Given the description of an element on the screen output the (x, y) to click on. 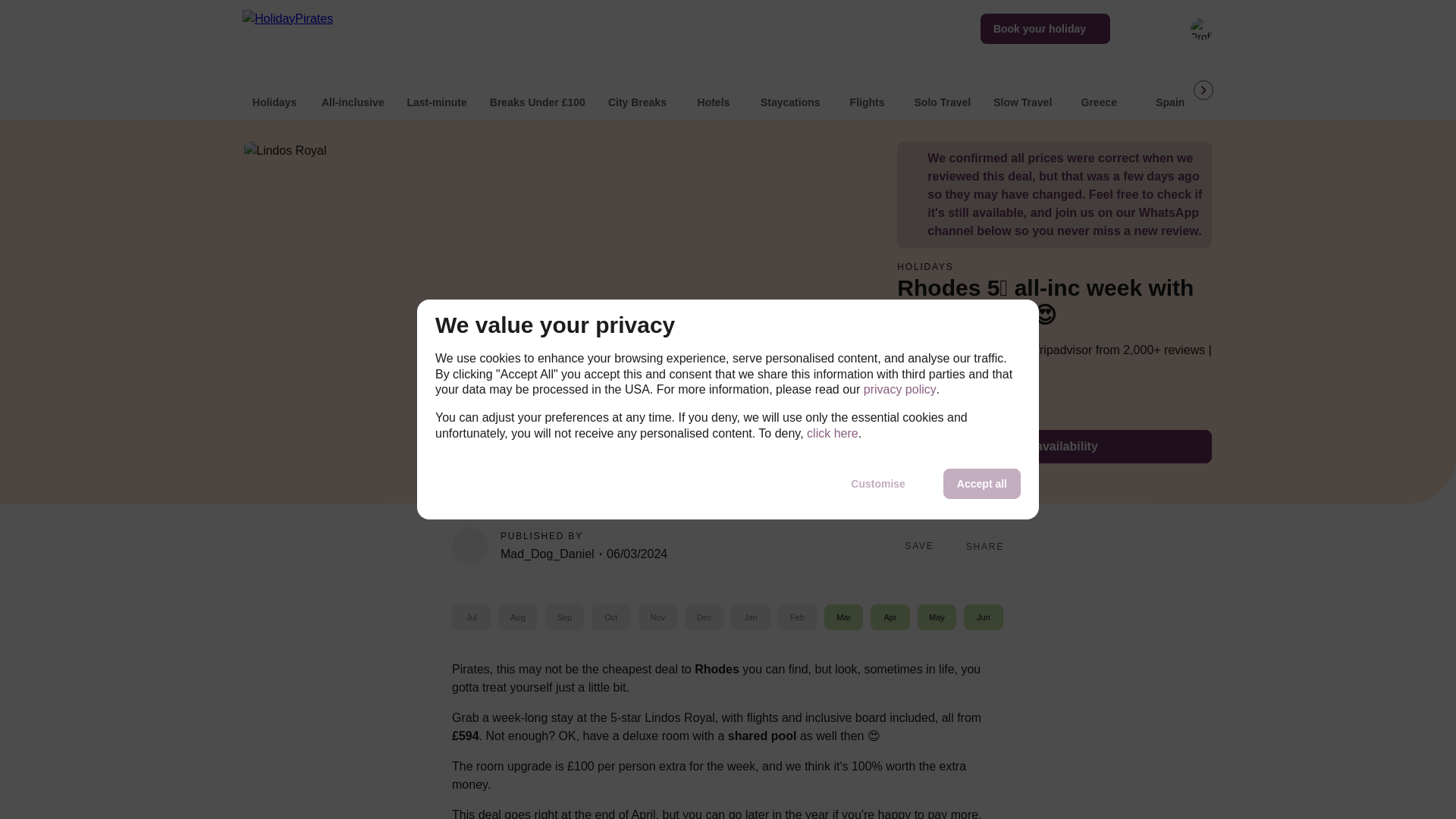
Spain (1170, 91)
Accept all (981, 483)
Flights (867, 91)
Last-minute (436, 91)
click here (832, 433)
Portugal (1312, 91)
Check availability (1053, 446)
Staycations (790, 91)
Holidays (274, 91)
HolidayPirates (307, 28)
privacy policy (899, 389)
Customise (877, 483)
Greece (1099, 91)
All-inclusive (352, 91)
Hotels (713, 91)
